Given the description of an element on the screen output the (x, y) to click on. 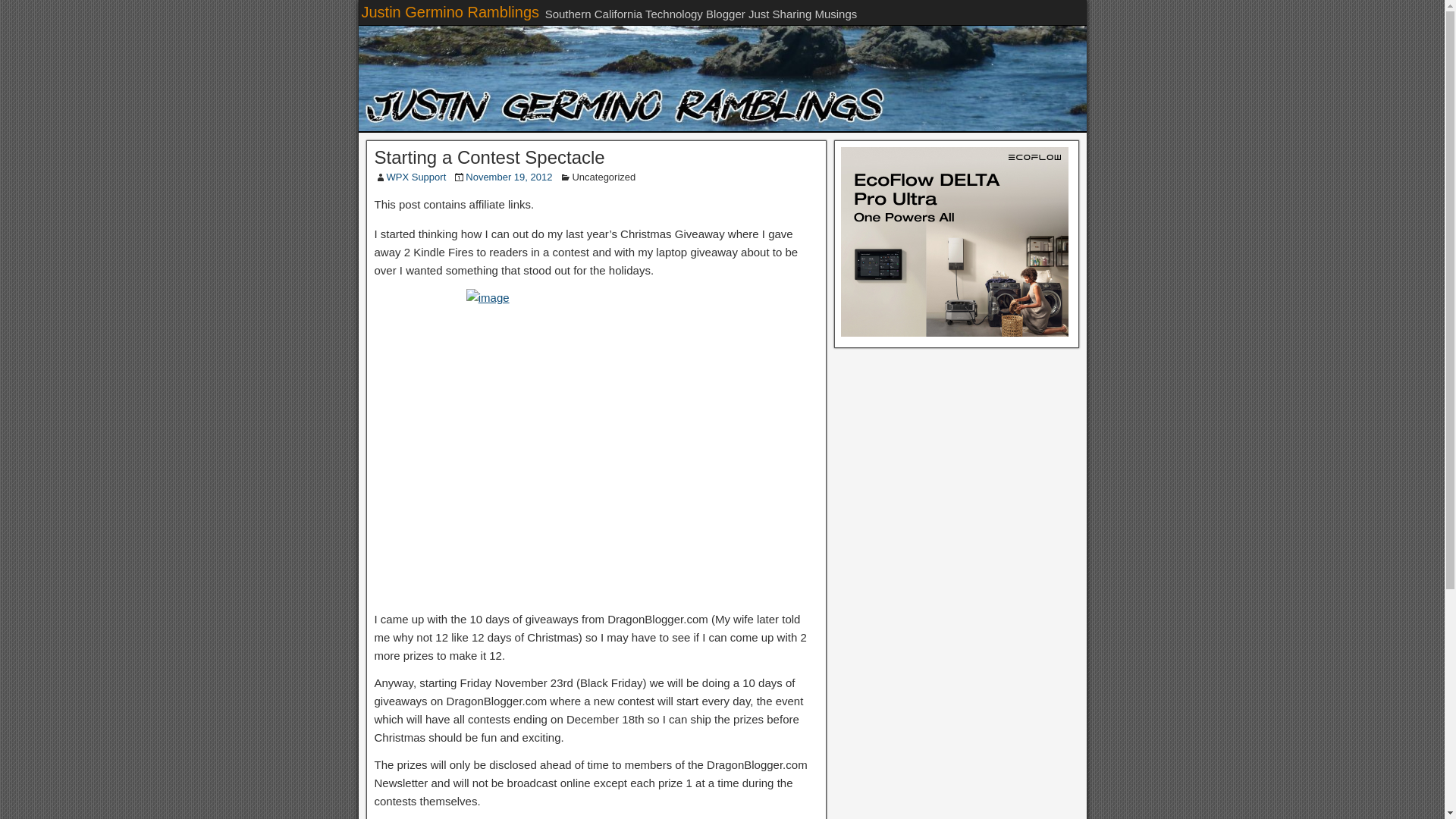
Justin Germino Ramblings (449, 12)
WPX Support (416, 176)
November 19, 2012 (508, 176)
Starting a Contest Spectacle (489, 157)
